Given the description of an element on the screen output the (x, y) to click on. 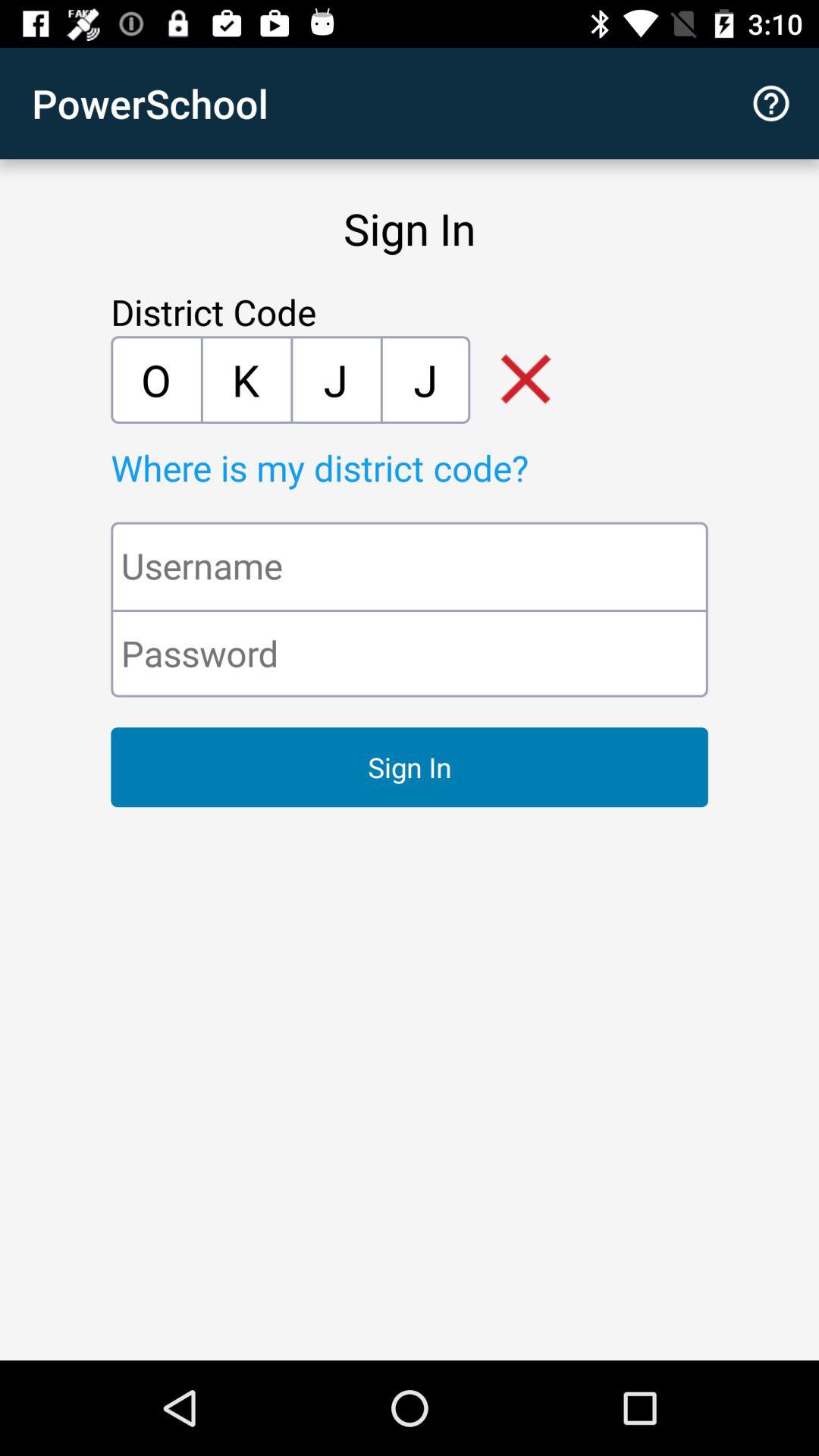
launch the item to the left of the j item (245, 379)
